Given the description of an element on the screen output the (x, y) to click on. 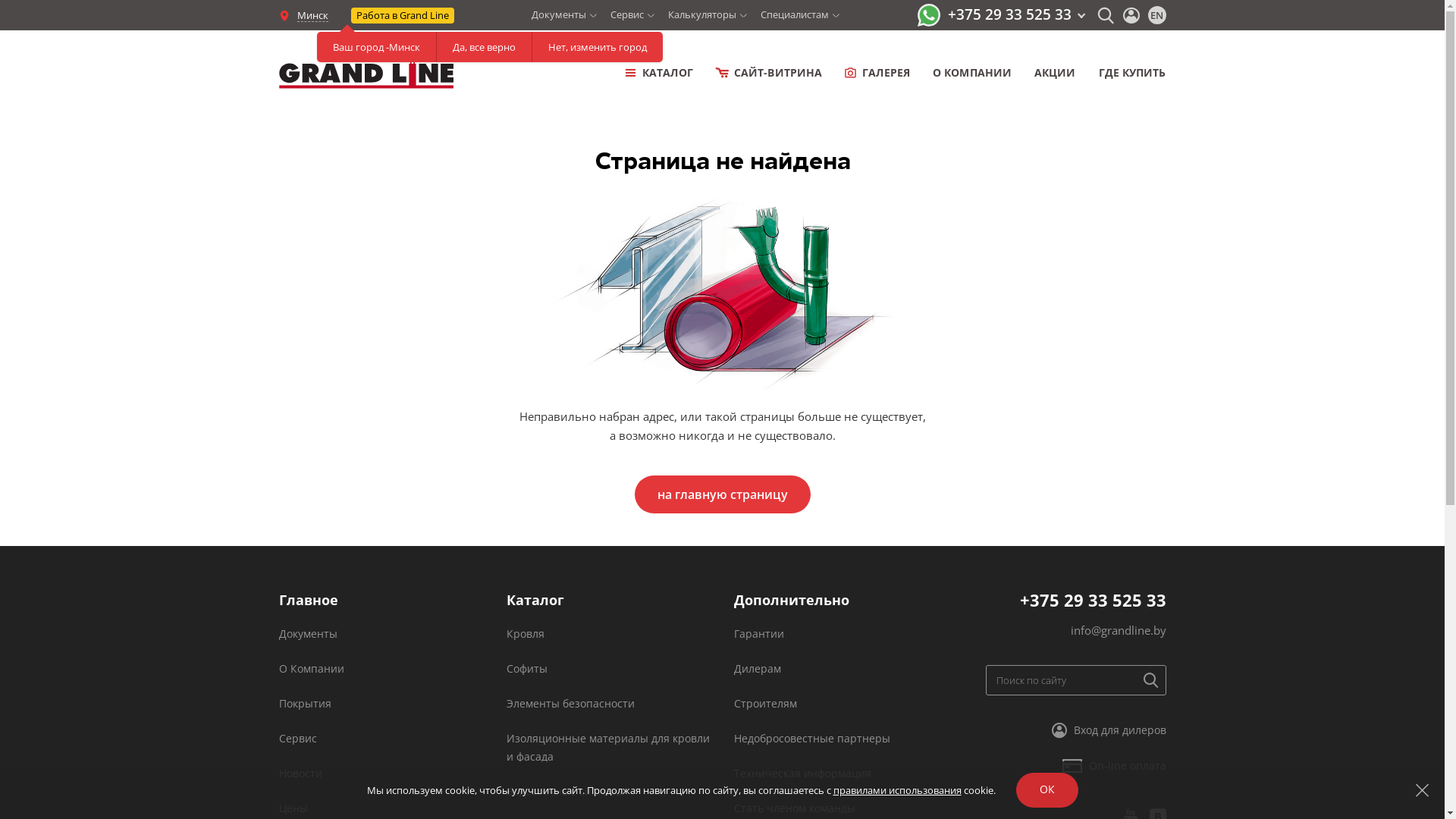
+375 29 33 525 33 Element type: text (1092, 599)
+375 29 33 525 33 Element type: text (1016, 14)
EN Element type: text (1157, 15)
info@grandline.by Element type: text (1118, 629)
